Given the description of an element on the screen output the (x, y) to click on. 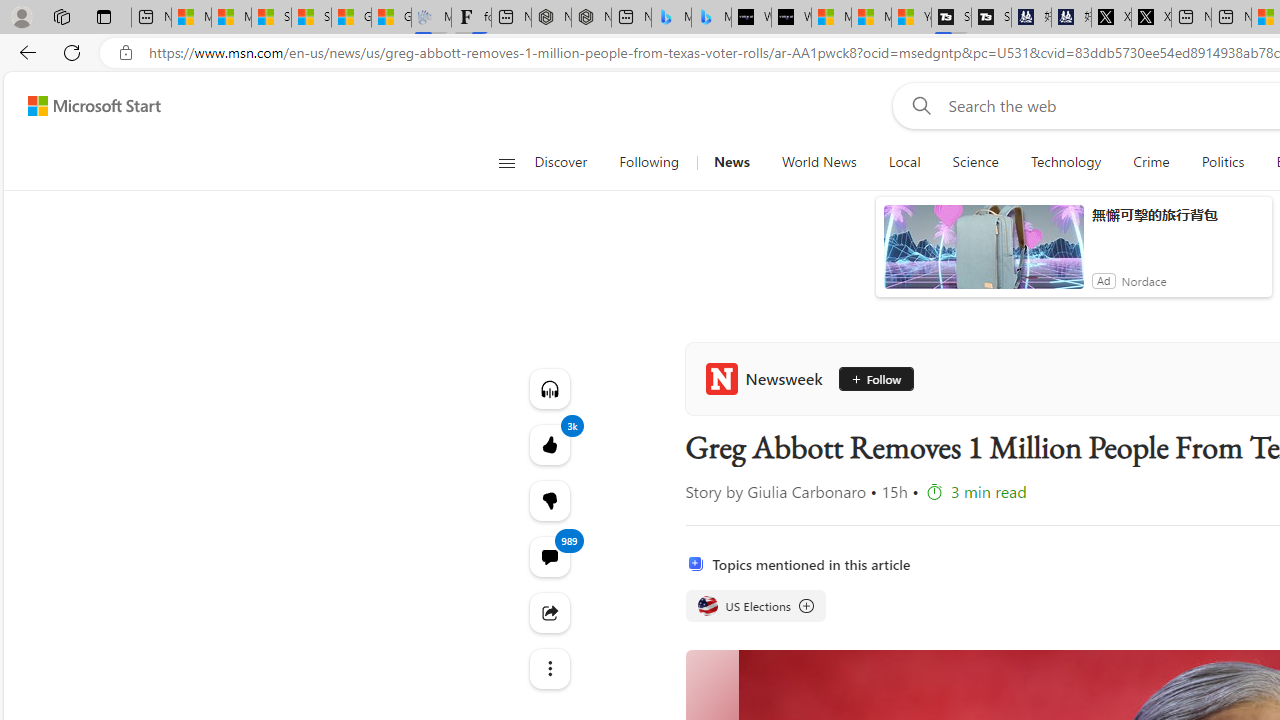
Listen to this article (548, 388)
US Elections (707, 606)
Technology (1065, 162)
anim-content (983, 255)
Open navigation menu (506, 162)
